Given the description of an element on the screen output the (x, y) to click on. 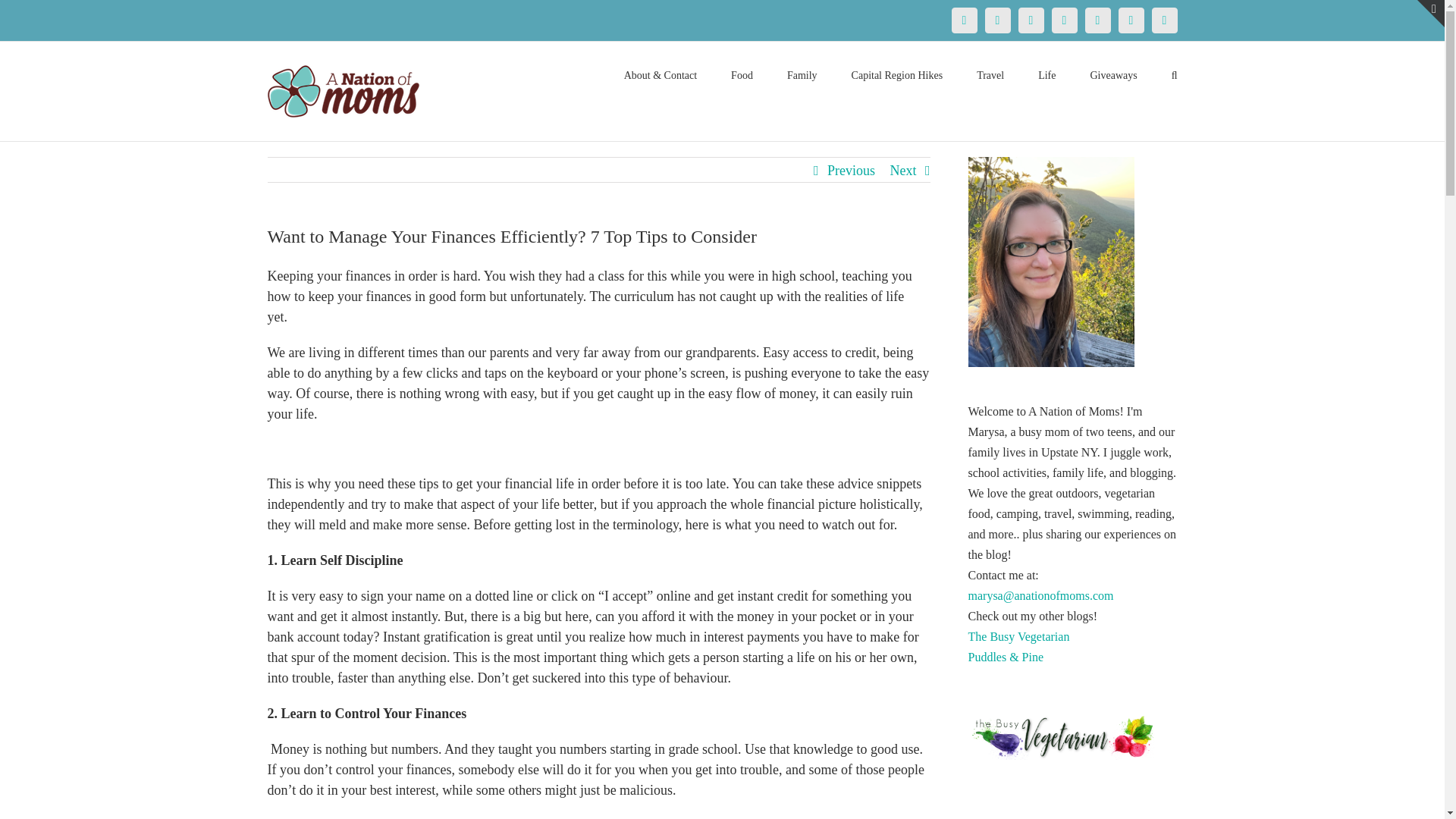
Capital Region Hikes (897, 74)
Email (1163, 20)
YouTube (1096, 20)
Facebook (963, 20)
Pinterest (1030, 20)
Twitter (997, 20)
Email (1163, 20)
YouTube (1096, 20)
Instagram (1064, 20)
Twitter (997, 20)
